Given the description of an element on the screen output the (x, y) to click on. 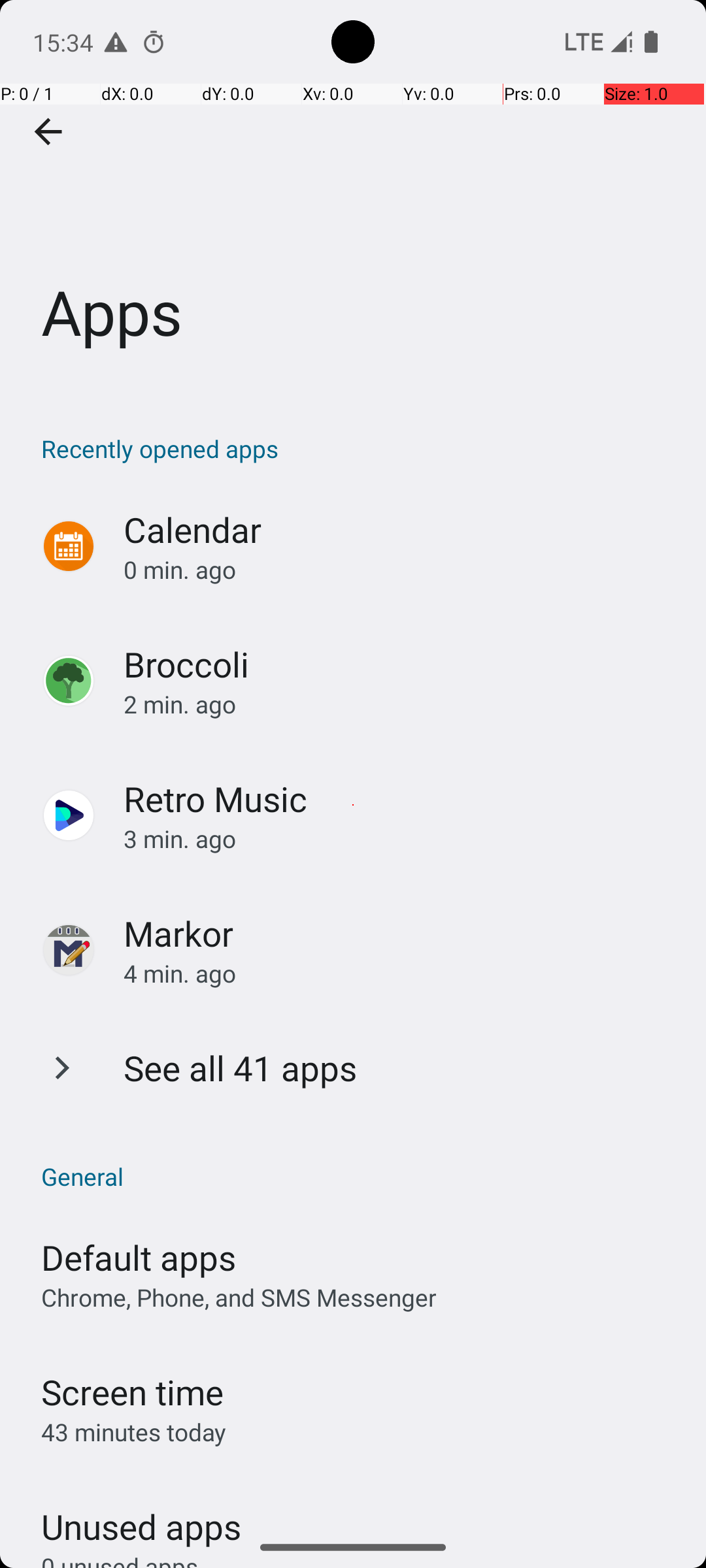
Recently opened apps Element type: android.widget.TextView (359, 448)
0 min. ago Element type: android.widget.TextView (400, 569)
2 min. ago Element type: android.widget.TextView (400, 703)
3 min. ago Element type: android.widget.TextView (400, 838)
4 min. ago Element type: android.widget.TextView (400, 972)
See all 41 apps Element type: android.widget.TextView (239, 1067)
Default apps Element type: android.widget.TextView (138, 1257)
Chrome, Phone, and SMS Messenger Element type: android.widget.TextView (238, 1296)
43 minutes today Element type: android.widget.TextView (133, 1431)
Unused apps Element type: android.widget.TextView (141, 1514)
